Given the description of an element on the screen output the (x, y) to click on. 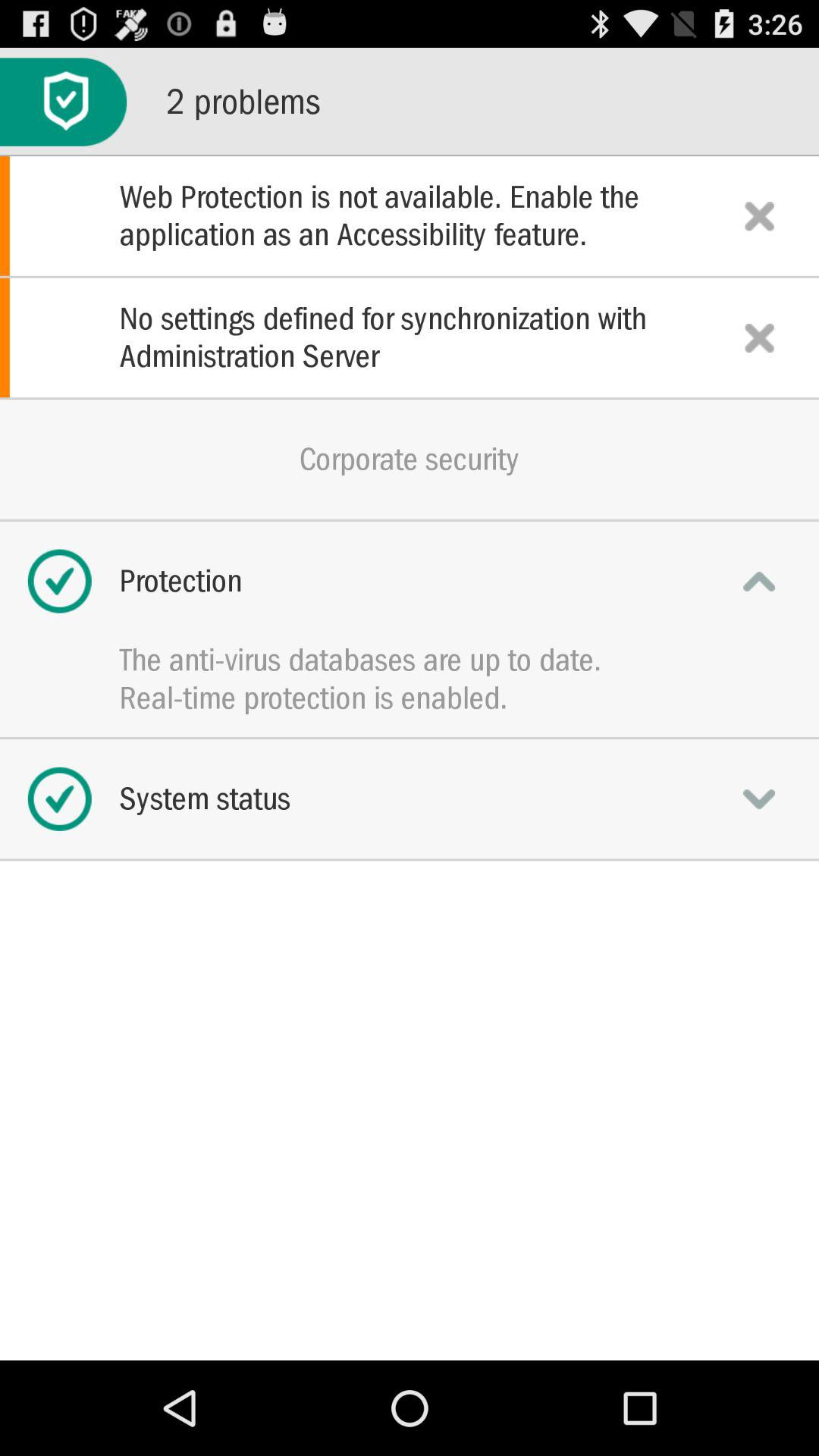
tap icon below real time protection item (409, 798)
